Given the description of an element on the screen output the (x, y) to click on. 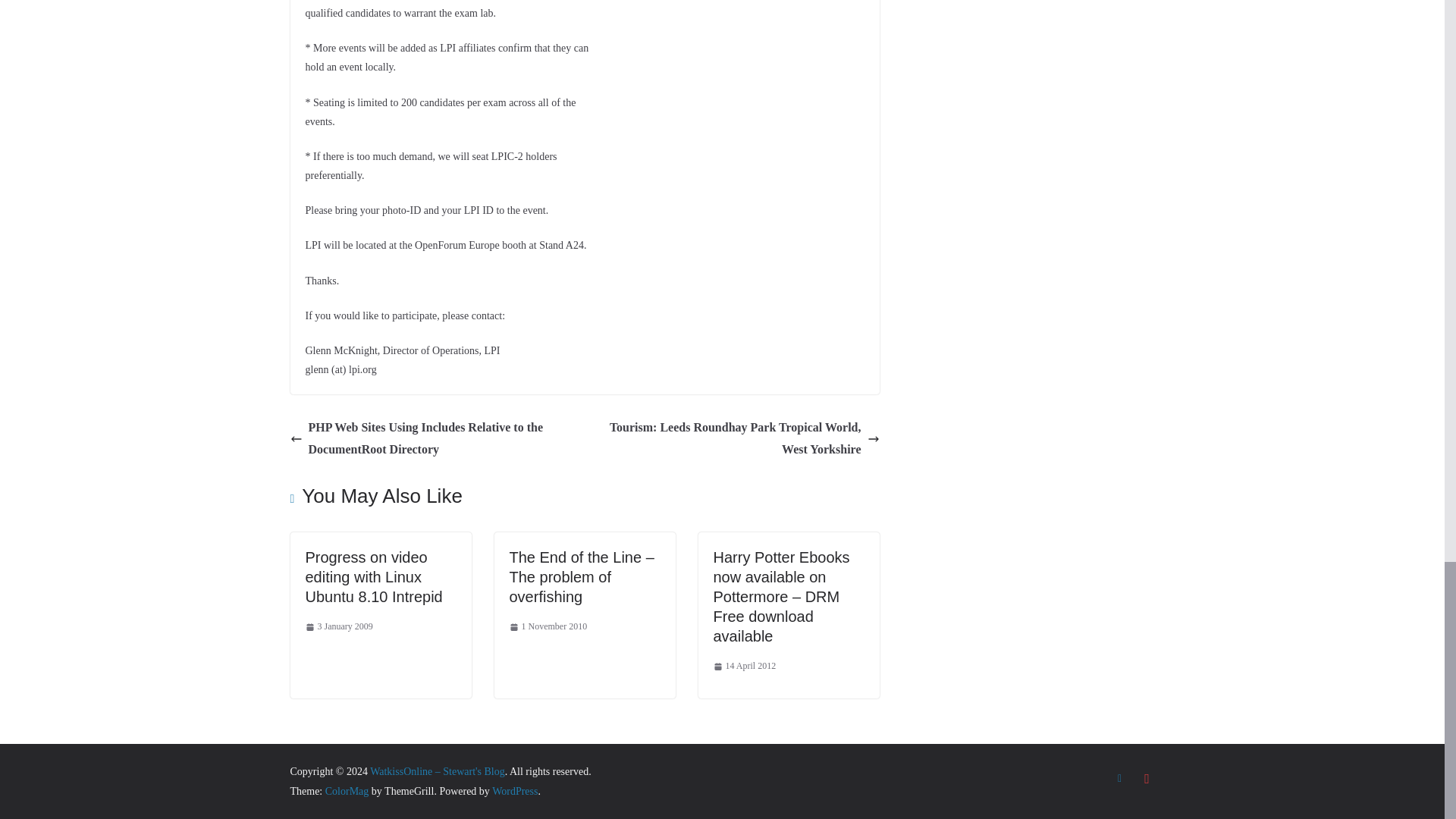
10:25 am (338, 627)
11:25 pm (548, 627)
1 November 2010 (548, 627)
Progress on video editing with Linux Ubuntu 8.10 Intrepid (373, 576)
11:39 pm (744, 666)
14 April 2012 (744, 666)
Progress on video editing with Linux Ubuntu 8.10 Intrepid (373, 576)
3 January 2009 (338, 627)
Tourism: Leeds Roundhay Park Tropical World, West Yorkshire (735, 438)
